Given the description of an element on the screen output the (x, y) to click on. 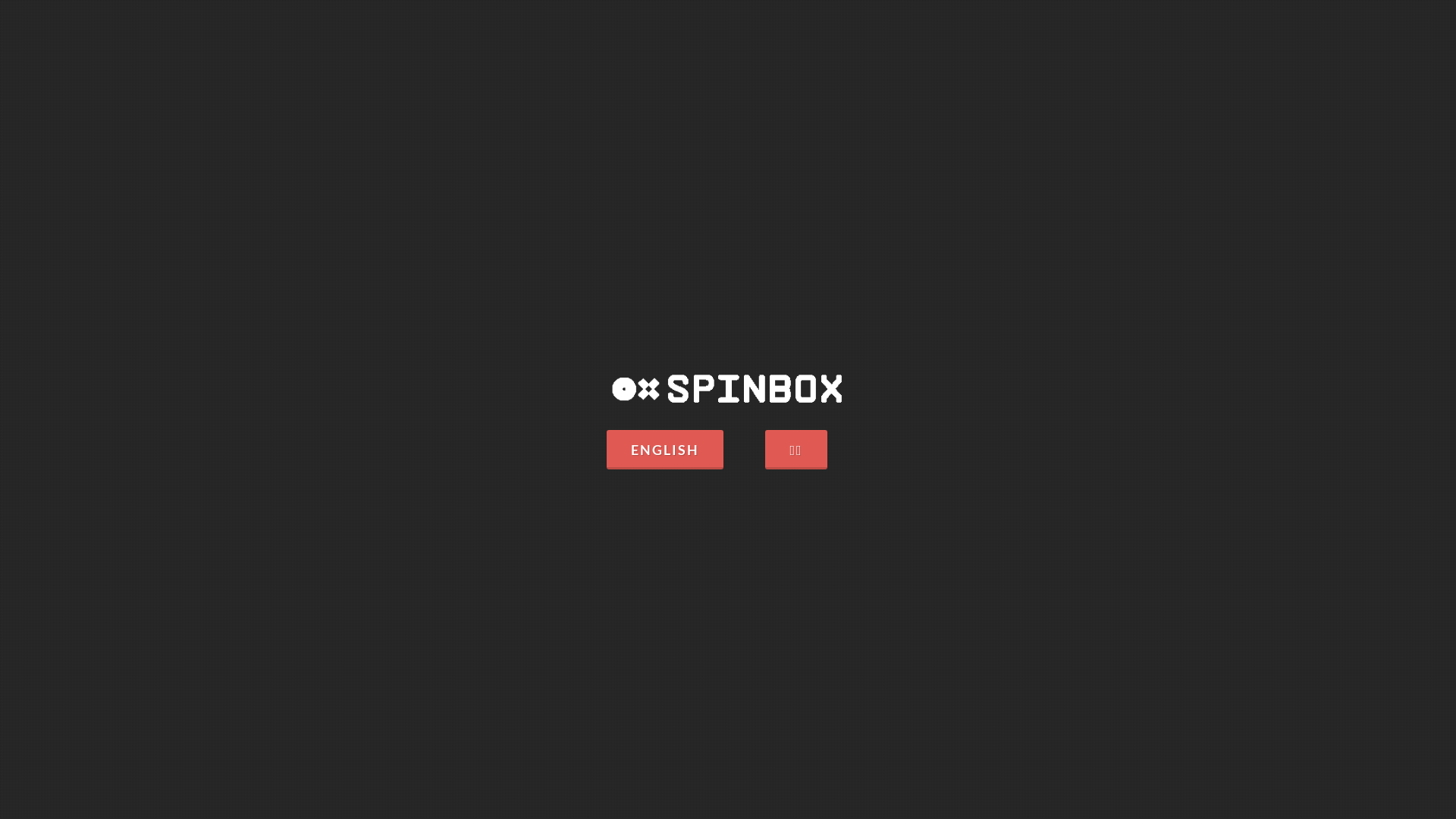
ENGLISH Element type: text (664, 449)
